Given the description of an element on the screen output the (x, y) to click on. 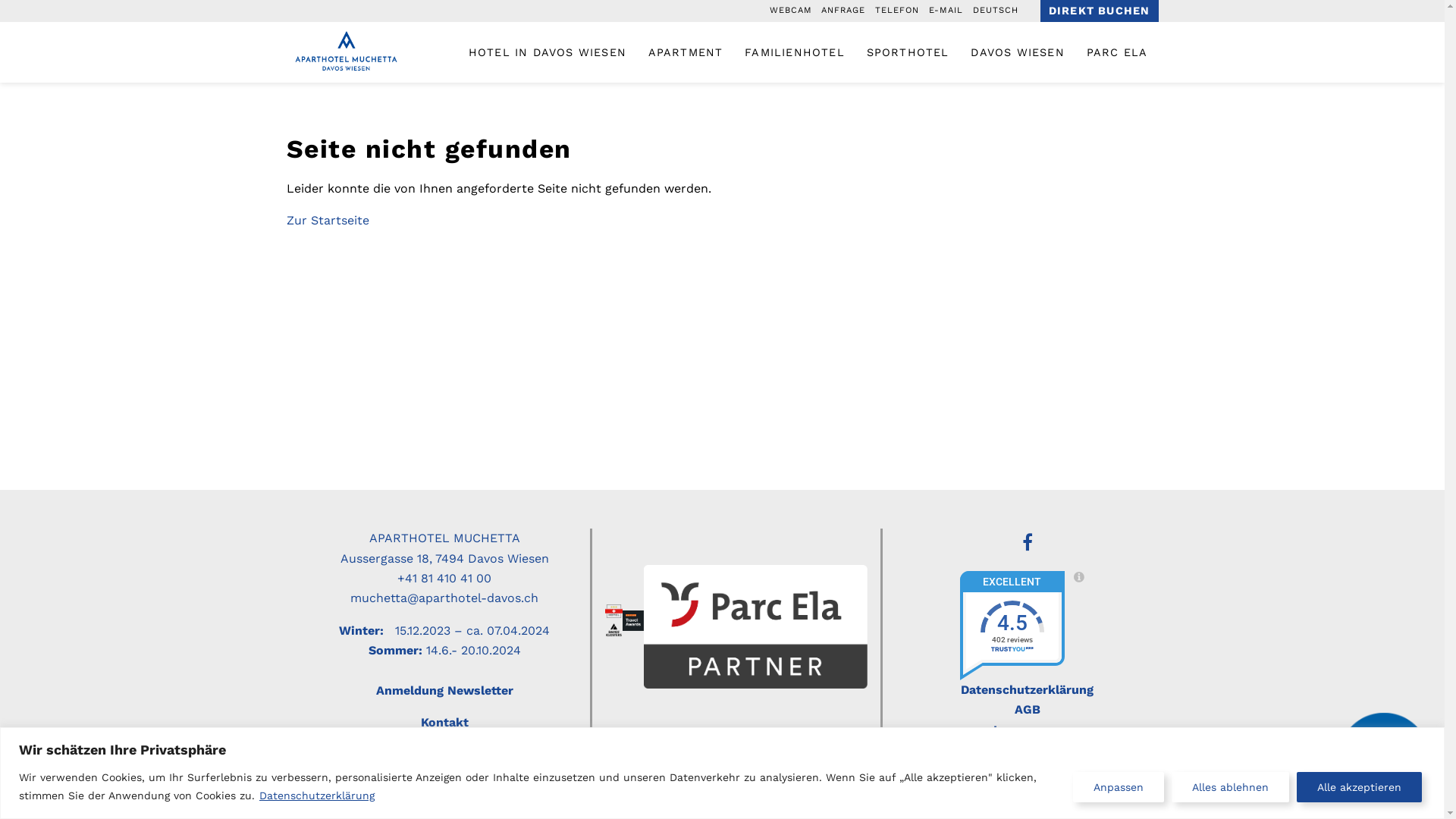
E-MAIL Element type: text (945, 10)
Zur Startseite Element type: text (327, 220)
HOTEL IN DAVOS WIESEN Element type: text (547, 51)
Alles ablehnen Element type: text (1230, 786)
muchetta@aparthotel-davos.ch Element type: text (444, 597)
AGB Element type: text (1027, 709)
Offene Stellen Element type: text (1027, 769)
TELEFON Element type: text (897, 10)
Anmeldung Newsletter Element type: text (444, 690)
Impressum Element type: text (1026, 729)
FAMILIENHOTEL Element type: text (794, 51)
Kontakt Element type: text (444, 722)
Anpassen Element type: text (1118, 786)
Alle akzeptieren Element type: text (1358, 786)
ANFRAGE Element type: text (843, 10)
WEBCAM Element type: text (790, 10)
DEUTSCH Element type: text (995, 10)
EXCELLENT
4.5
402 reviews Element type: text (1027, 625)
PARC ELA Element type: text (1116, 51)
APARTMENT Element type: text (685, 51)
DIREKT BUCHEN Element type: text (1099, 10)
DAVOS WIESEN Element type: text (1017, 51)
Partner Element type: text (1027, 749)
SPORTHOTEL Element type: text (907, 51)
